Given the description of an element on the screen output the (x, y) to click on. 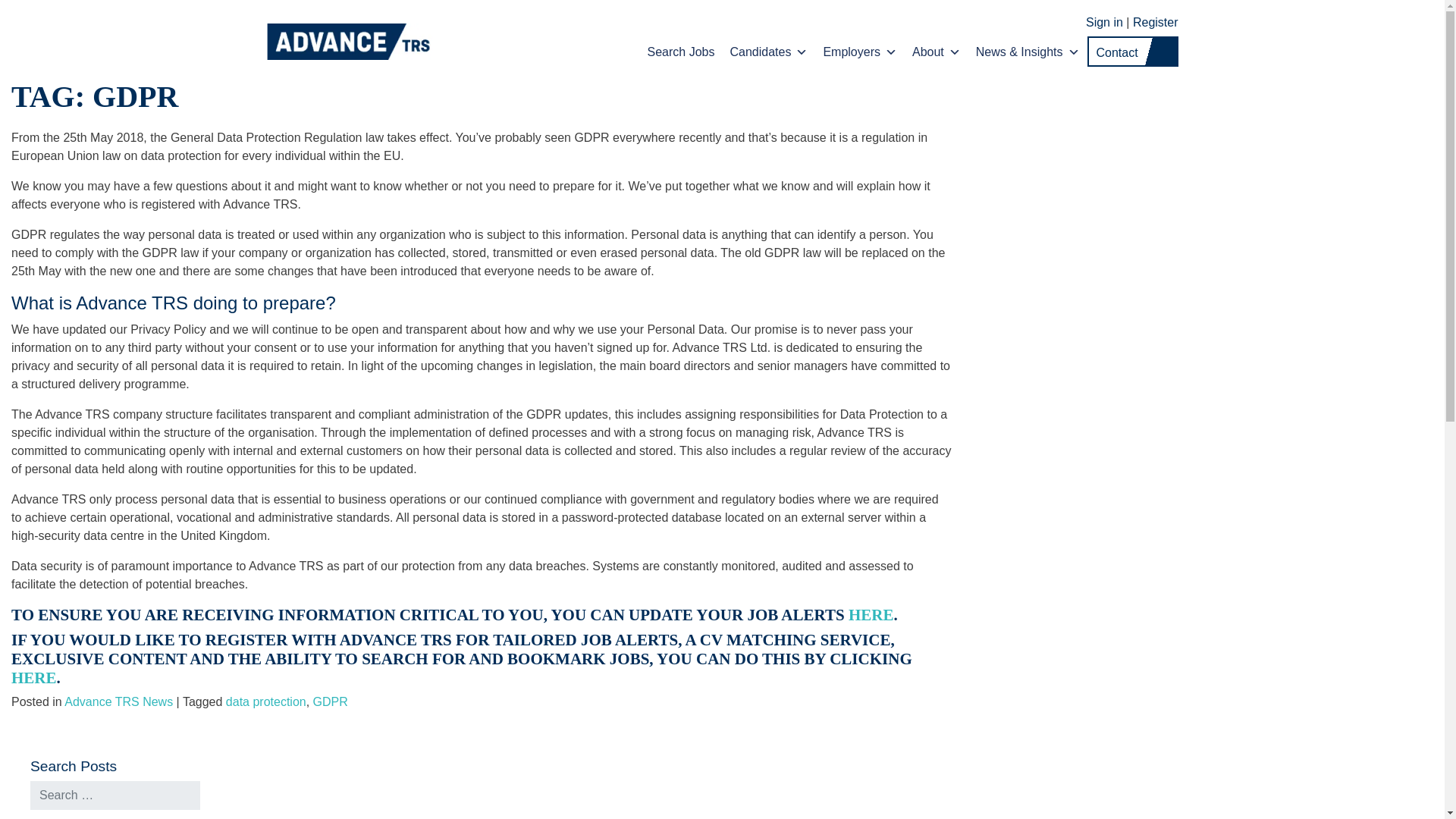
Candidates (768, 51)
Sign in (1092, 21)
Register (1154, 21)
Search for: (115, 795)
Search Jobs (681, 51)
